Given the description of an element on the screen output the (x, y) to click on. 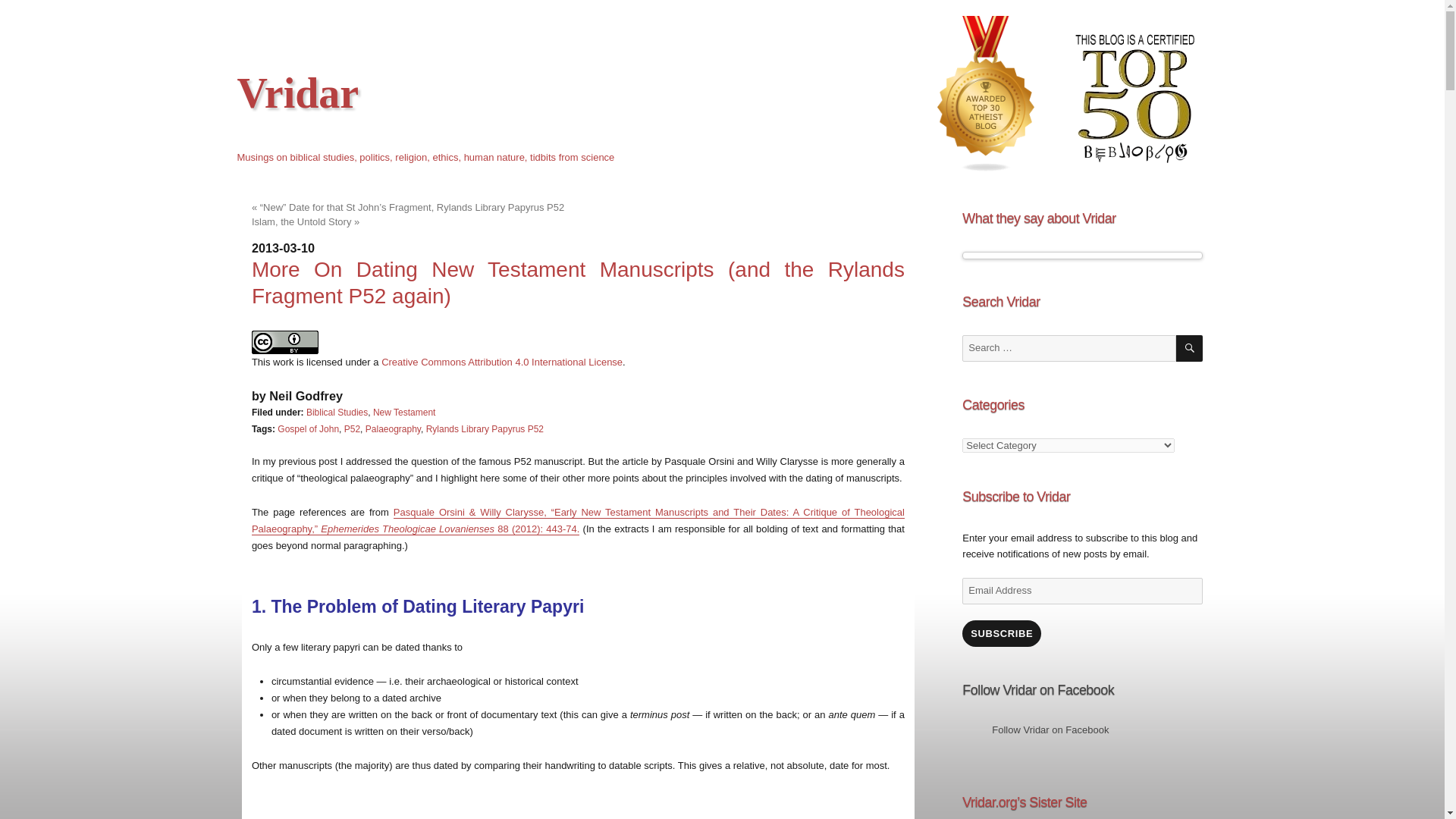
New Testament (403, 412)
P52 (351, 429)
Creative Commons Attribution 4.0 International License (502, 361)
Gospel of John (308, 429)
Palaeography (392, 429)
Vridar (296, 93)
Biblical Studies (336, 412)
Rylands Library Papyrus P52 (484, 429)
